Given the description of an element on the screen output the (x, y) to click on. 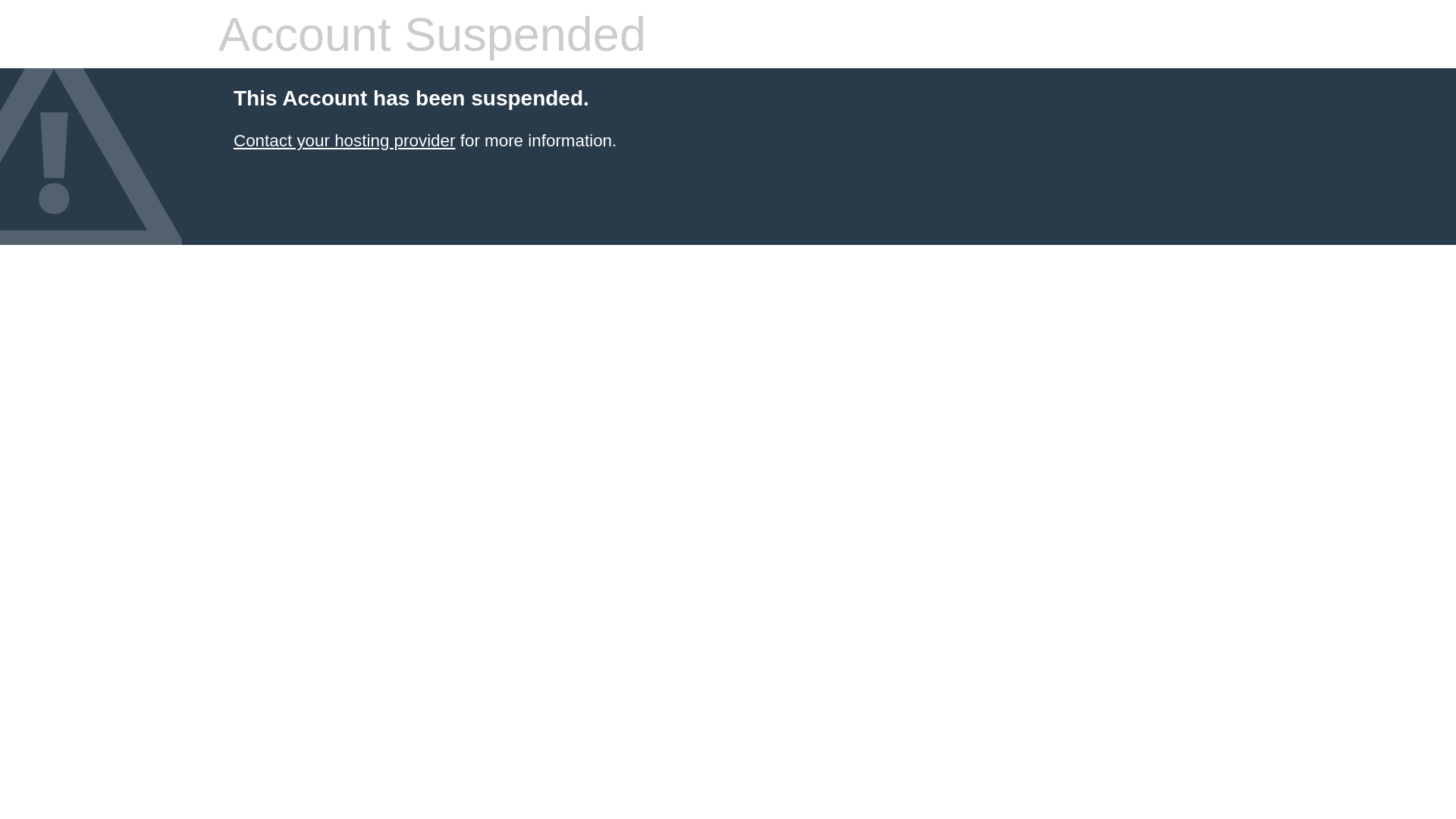
Contact your hosting provider Element type: text (344, 140)
